Given the description of an element on the screen output the (x, y) to click on. 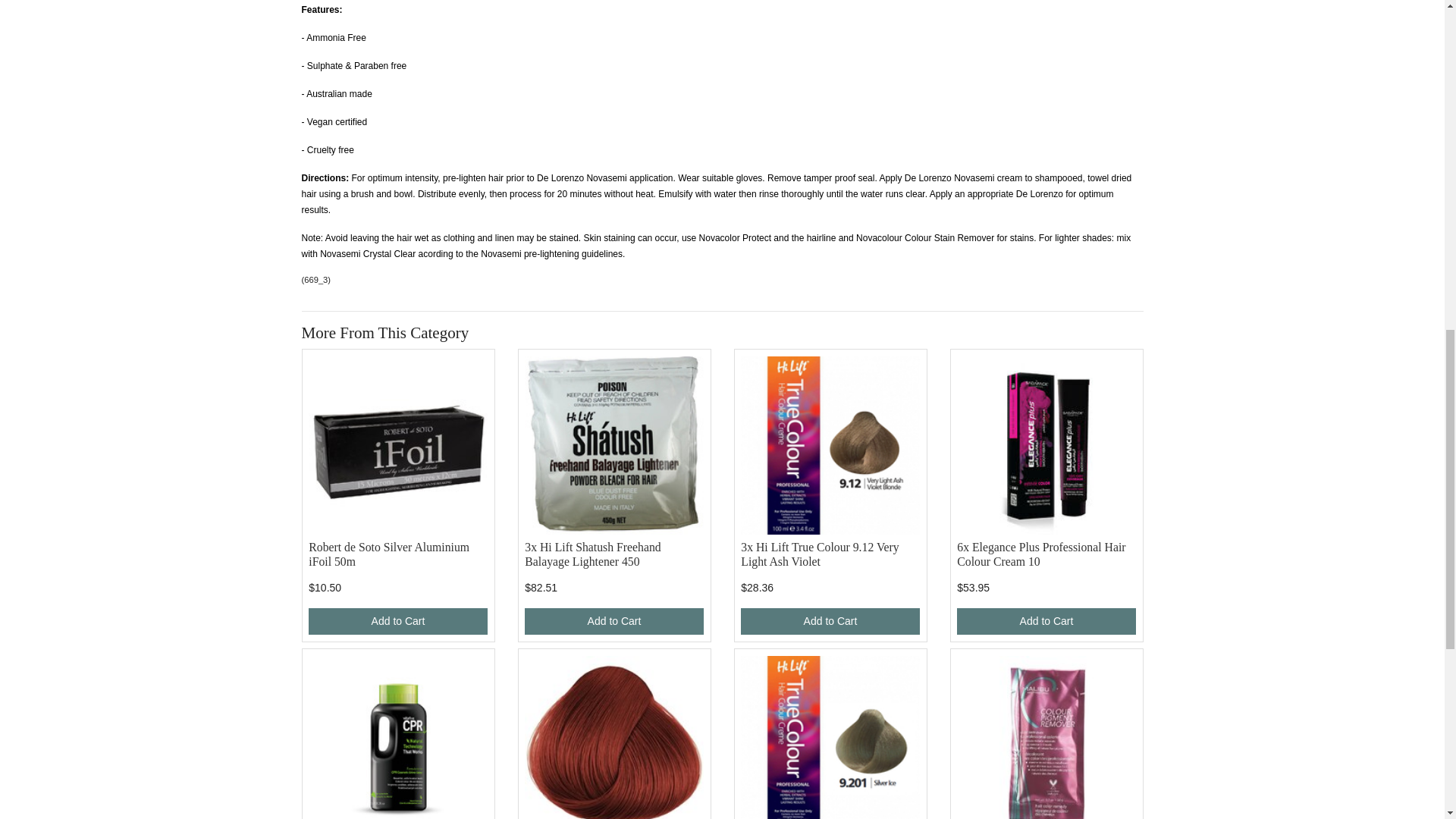
Add Robert de Soto Silver Aluminium iFoil 50m to Cart (397, 621)
